Given the description of an element on the screen output the (x, y) to click on. 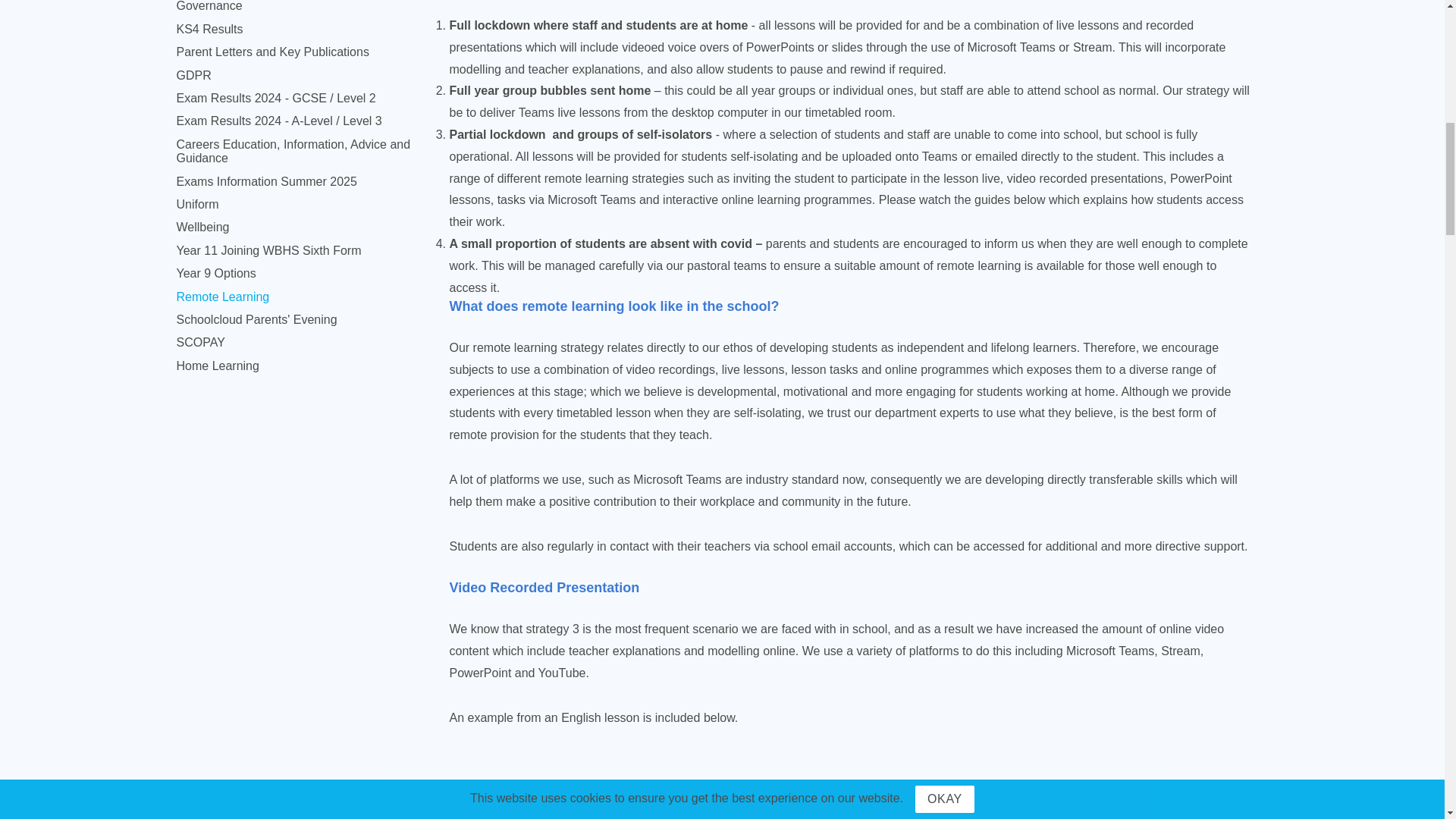
KS4 Results (209, 29)
Parent Letters and Key Publications (272, 51)
GDPR (193, 74)
Careers Education, Information, Advice and Guidance (293, 151)
Exams Information Summer 2025 (266, 181)
Governance (208, 6)
